Given the description of an element on the screen output the (x, y) to click on. 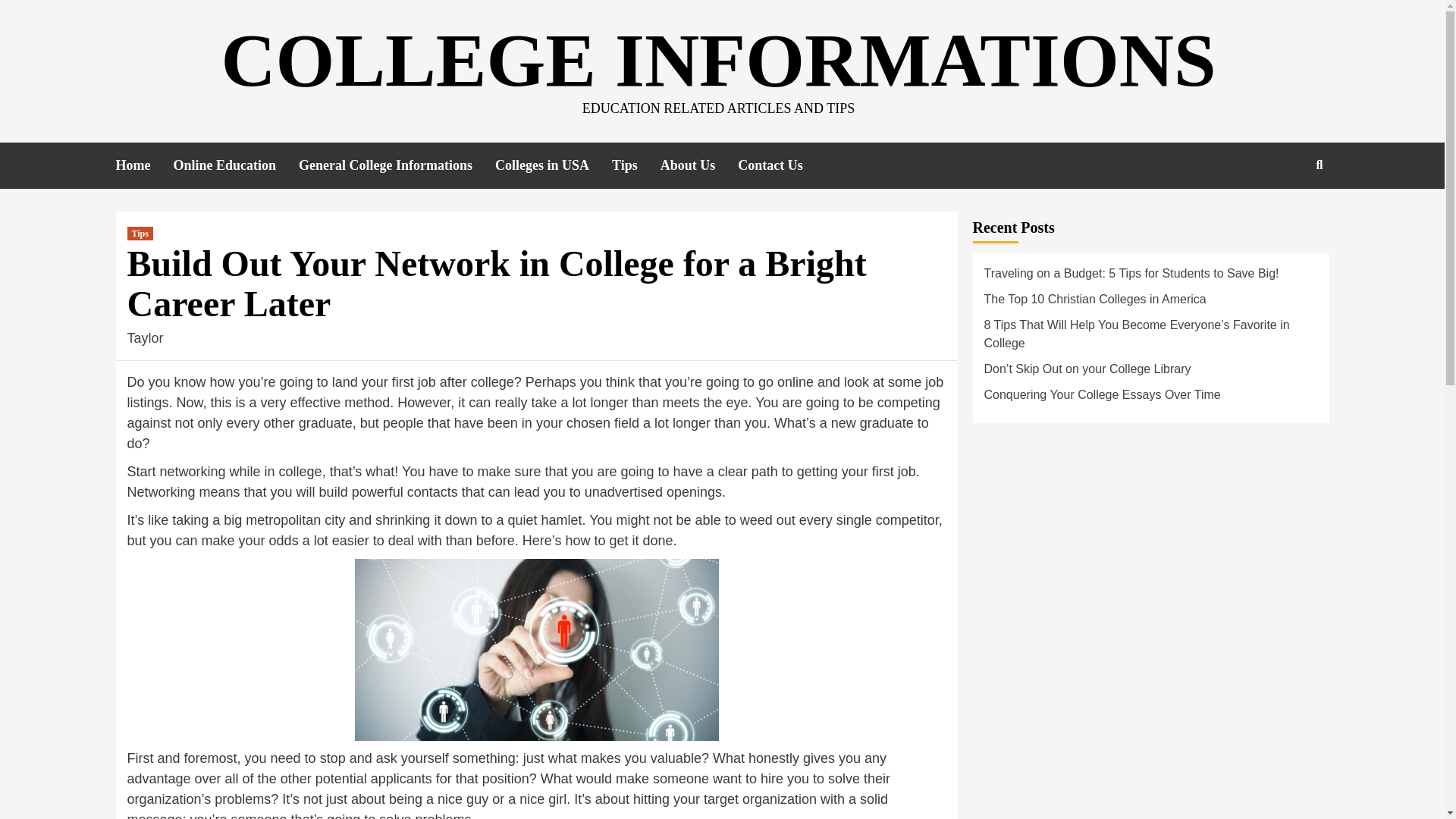
About Us (699, 165)
Network in College (537, 649)
COLLEGE INFORMATIONS (718, 60)
Traveling on a Budget: 5 Tips for Students to Save Big! (1150, 277)
Online Education (235, 165)
Home (144, 165)
Colleges in USA (553, 165)
The Top 10 Christian Colleges in America (1150, 303)
Tips (636, 165)
Conquering Your College Essays Over Time (1150, 398)
